Given the description of an element on the screen output the (x, y) to click on. 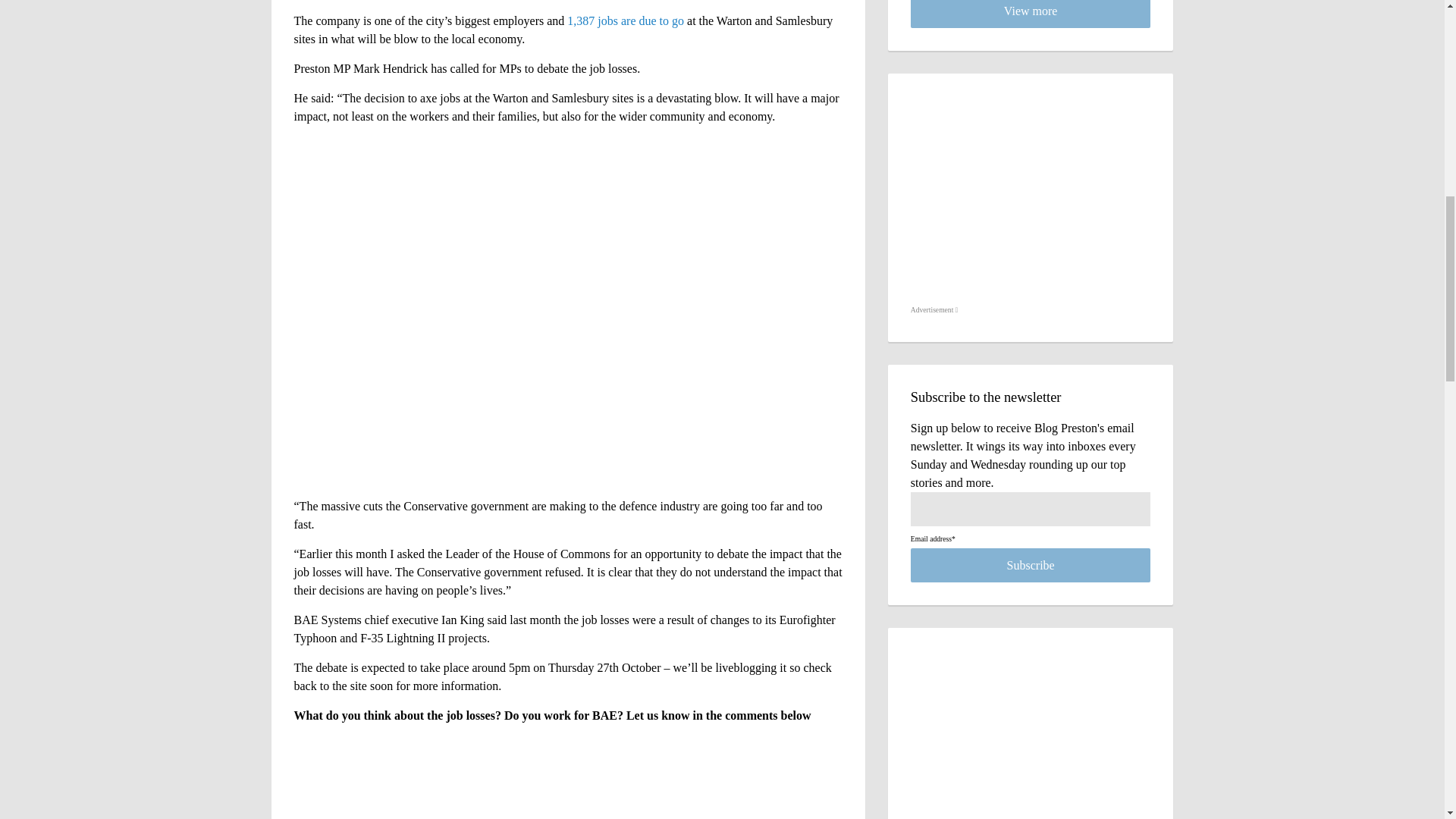
Subscribe (1031, 564)
Subscribe (1031, 564)
Advertisement (934, 310)
1,387 jobs are due to go (625, 20)
View more (1031, 13)
